Given the description of an element on the screen output the (x, y) to click on. 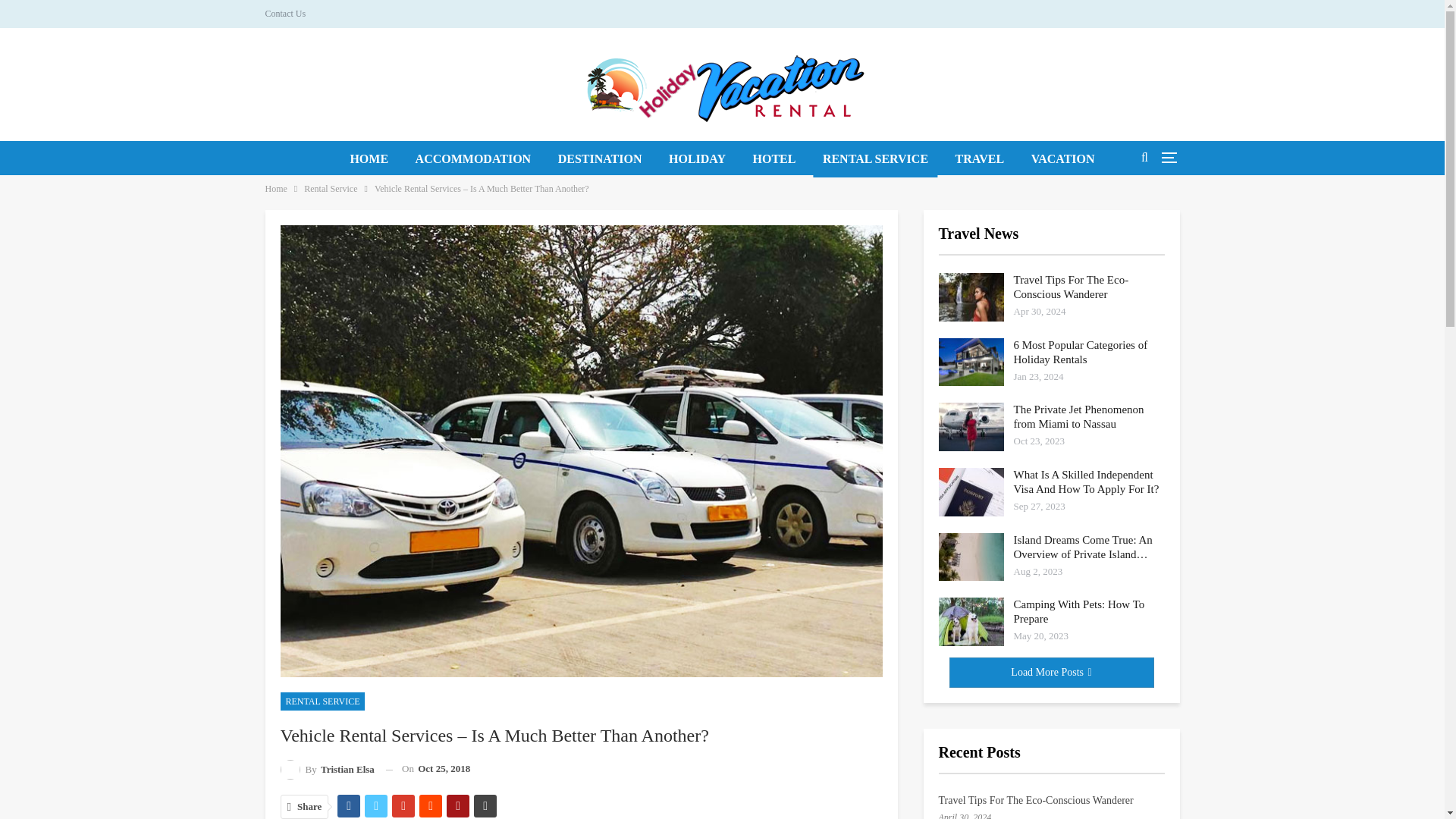
Travel Tips For The Eco-Conscious Wanderer (971, 296)
By Tristian Elsa (327, 769)
Rental Service (330, 188)
RENTAL SERVICE (323, 700)
RENTAL SERVICE (875, 158)
HOLIDAY (697, 158)
Contact Us (284, 13)
6 Most Popular Categories of Holiday Rentals (971, 362)
HOME (368, 158)
Home (275, 188)
ACCOMMODATION (473, 158)
Browse Author Articles (327, 769)
DESTINATION (599, 158)
TRAVEL (979, 158)
HOTEL (773, 158)
